Given the description of an element on the screen output the (x, y) to click on. 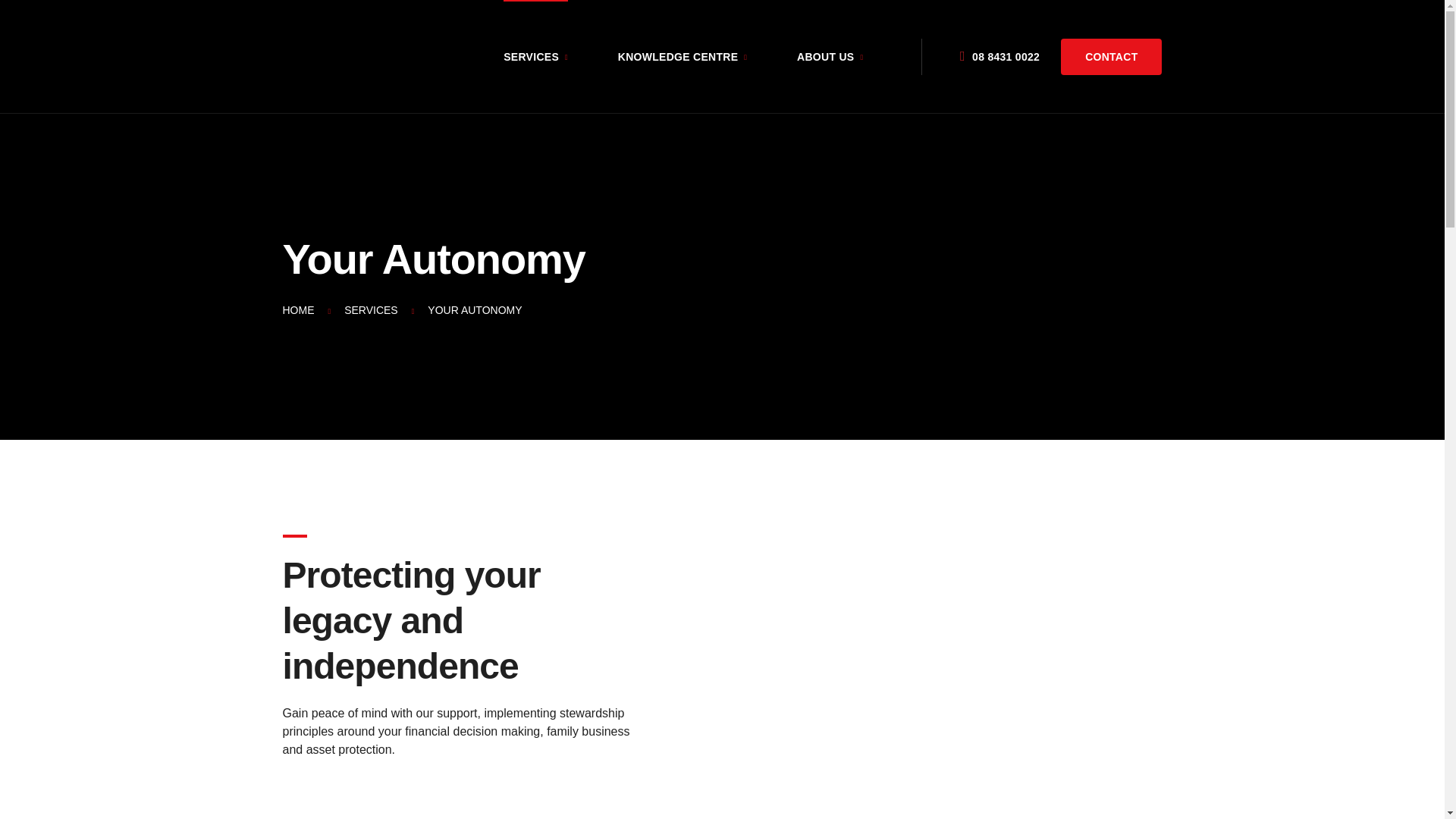
SERVICES Element type: text (371, 310)
HOME Element type: text (297, 310)
KMT Partners Element type: hover (319, 56)
08 8431 0022 Element type: text (999, 56)
KNOWLEDGE CENTRE Element type: text (682, 56)
SERVICES Element type: text (535, 56)
ABOUT US Element type: text (829, 56)
CONTACT Element type: text (1110, 56)
